Given the description of an element on the screen output the (x, y) to click on. 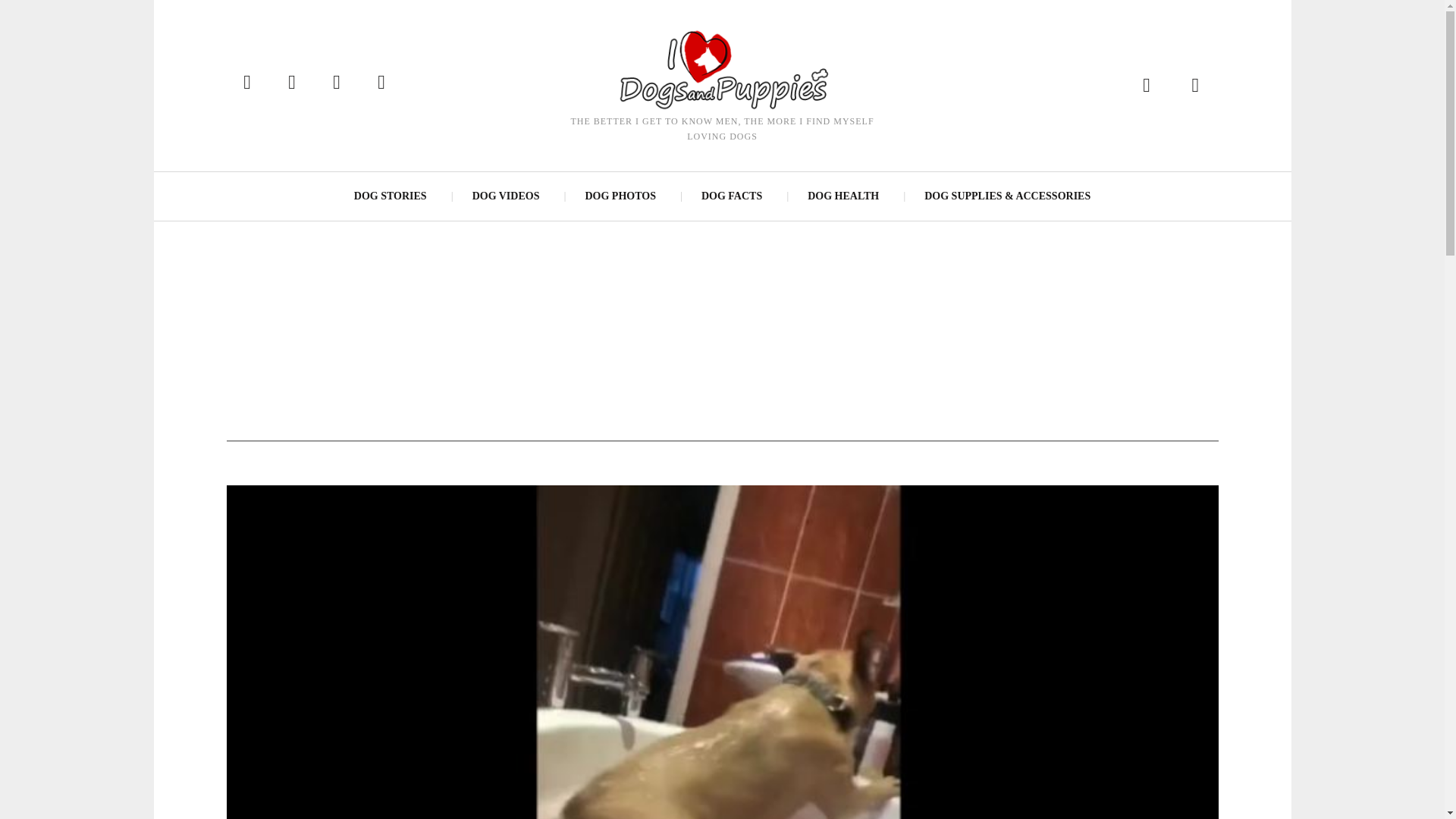
ILoveDogsAndPuppies (721, 68)
DOG FACTS (731, 195)
DOG VIDEOS (505, 195)
DOG HEALTH (842, 195)
DOG STORIES (390, 195)
DOG PHOTOS (619, 195)
